Given the description of an element on the screen output the (x, y) to click on. 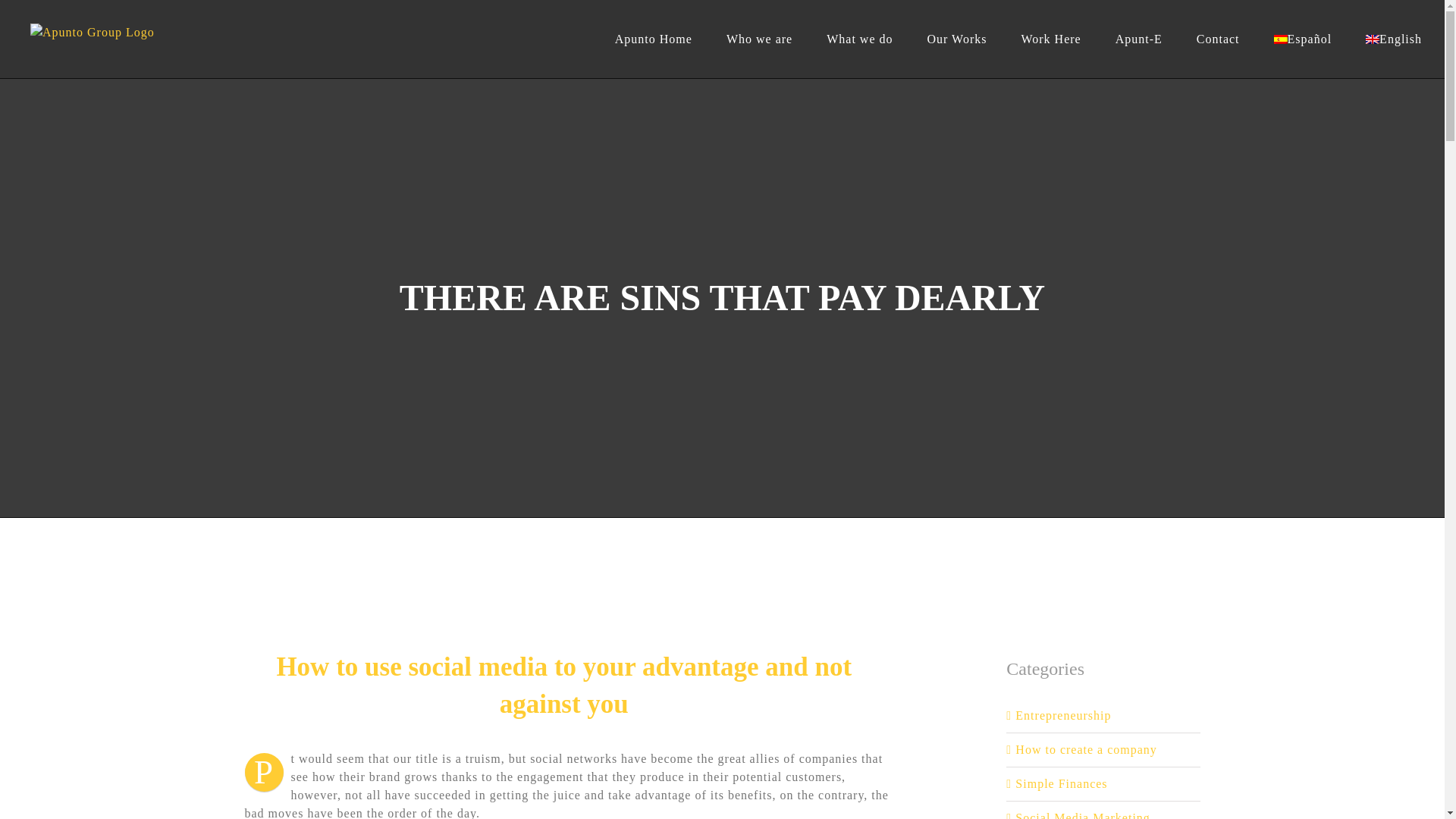
Social Media Marketing (1103, 814)
Simple Finances (1103, 783)
Entrepreneurship (1103, 715)
How to create a company (1103, 750)
Apunto Home (653, 38)
